Given the description of an element on the screen output the (x, y) to click on. 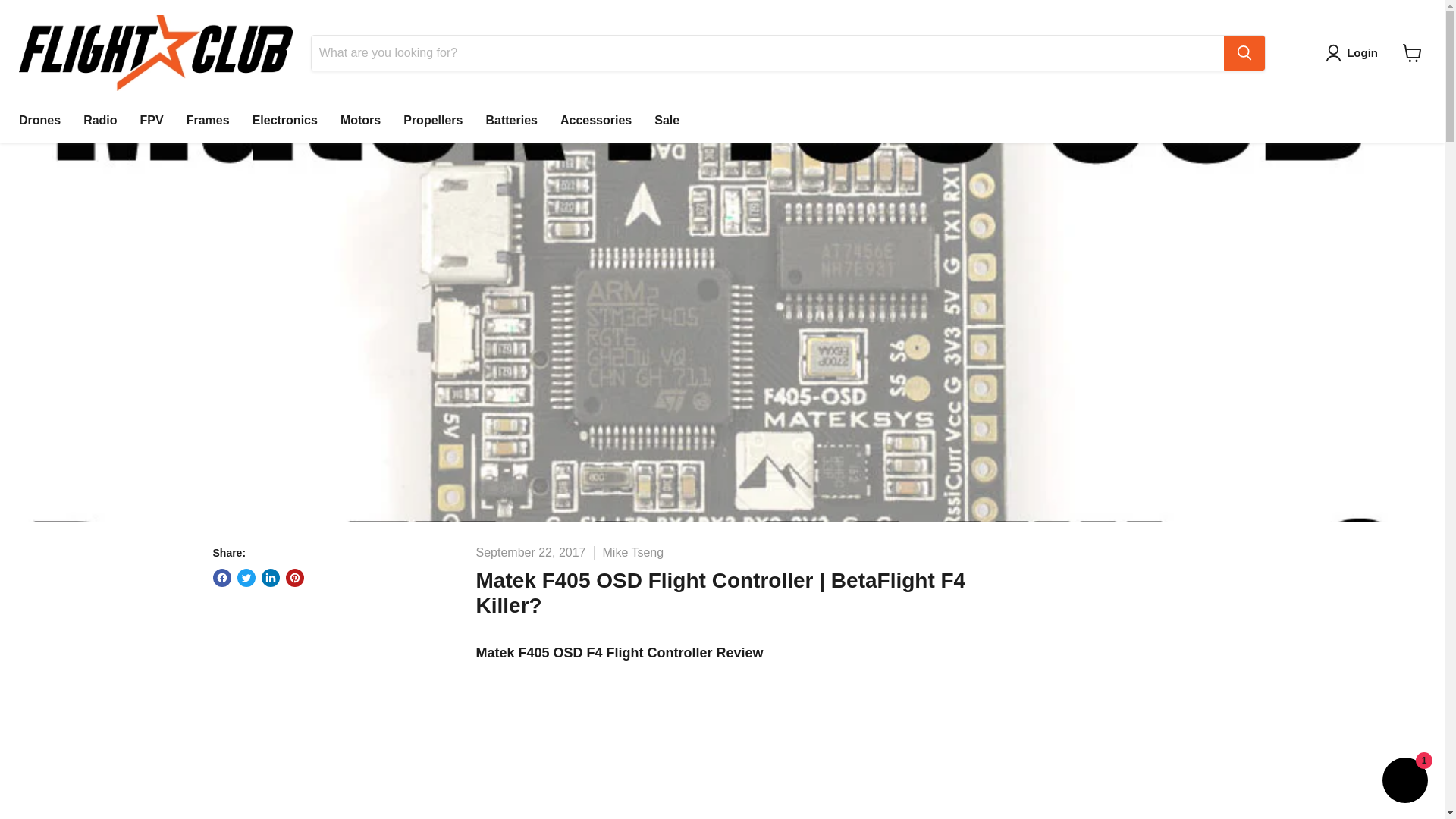
Electronics (285, 120)
Drones (39, 120)
Propellers (432, 120)
Batteries (511, 120)
Accessories (595, 120)
Radio (99, 120)
Frames (207, 120)
FPV (151, 120)
Sale (666, 120)
Shopify online store chat (1404, 781)
